Given the description of an element on the screen output the (x, y) to click on. 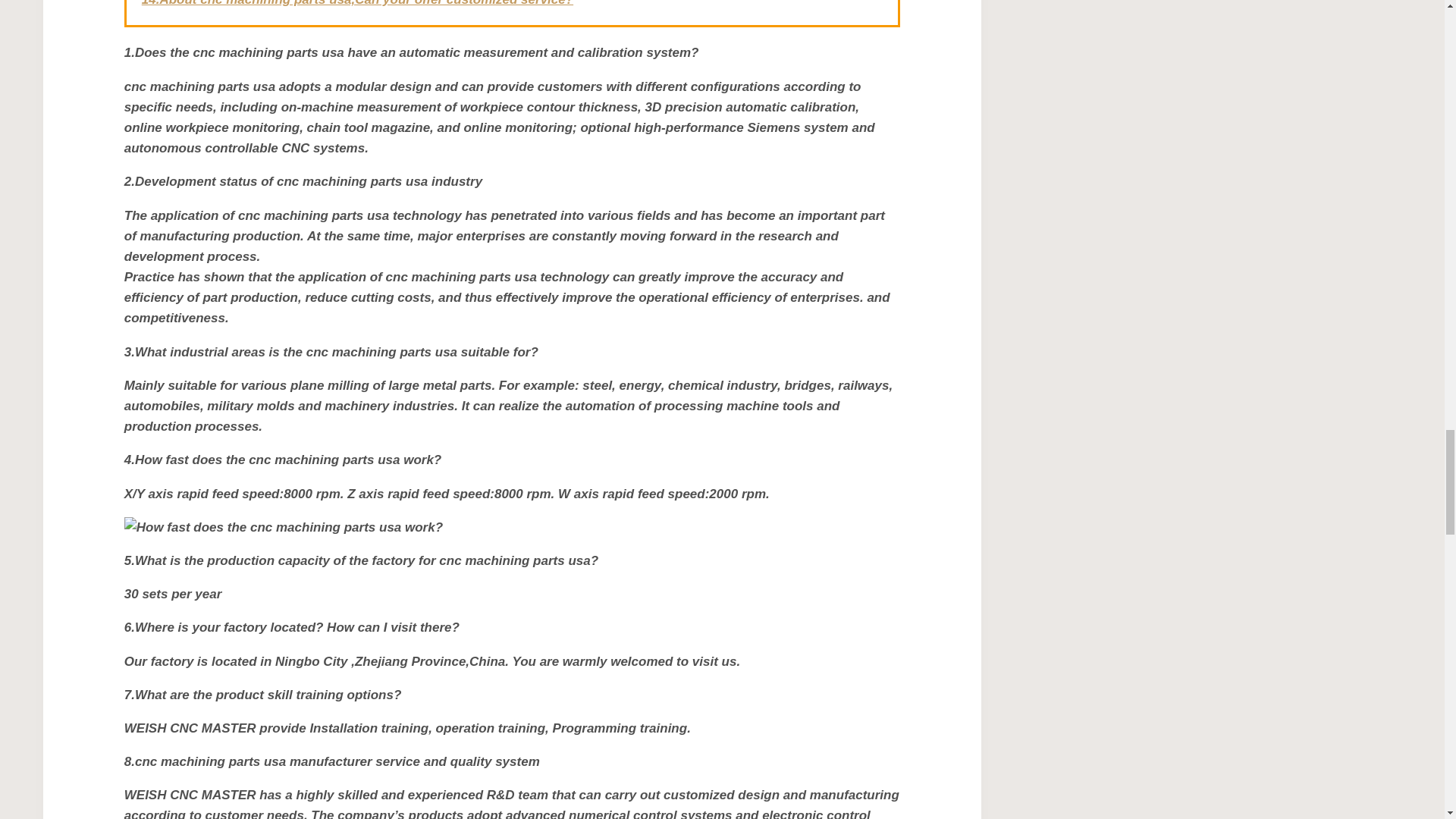
How fast does the cnc machining parts usa work? (511, 526)
